Given the description of an element on the screen output the (x, y) to click on. 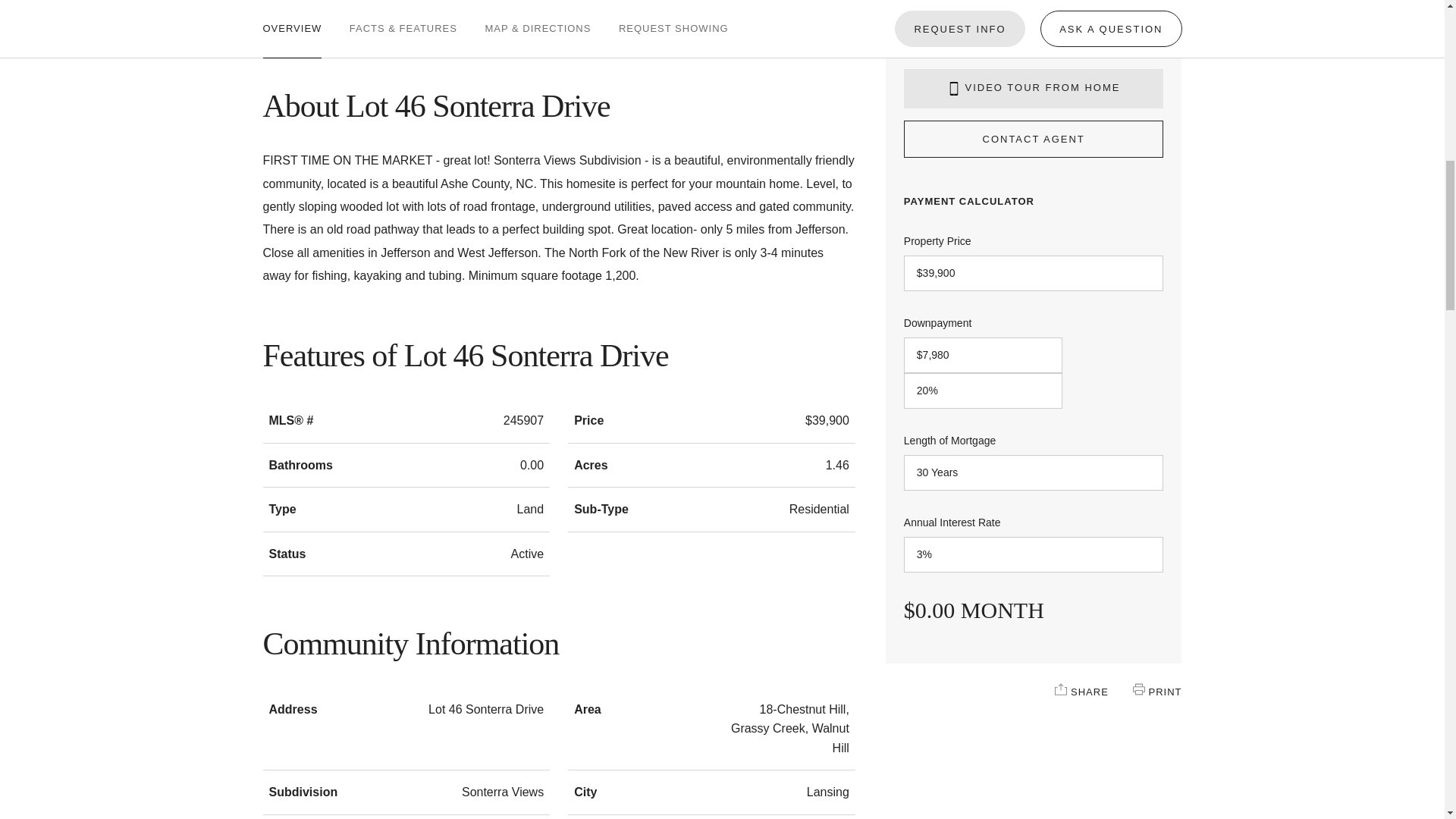
30 Years (1033, 472)
REQUEST INFO (960, 13)
MOBILE ICON (953, 88)
MOBILE ICON VIDEO TOUR FROM HOME (1033, 88)
ASK A QUESTION (1110, 13)
CONTACT AGENT (1033, 139)
REQUEST SHOWING (673, 18)
OVERVIEW (291, 18)
SHARE (1060, 689)
PRINT (1138, 689)
